Given the description of an element on the screen output the (x, y) to click on. 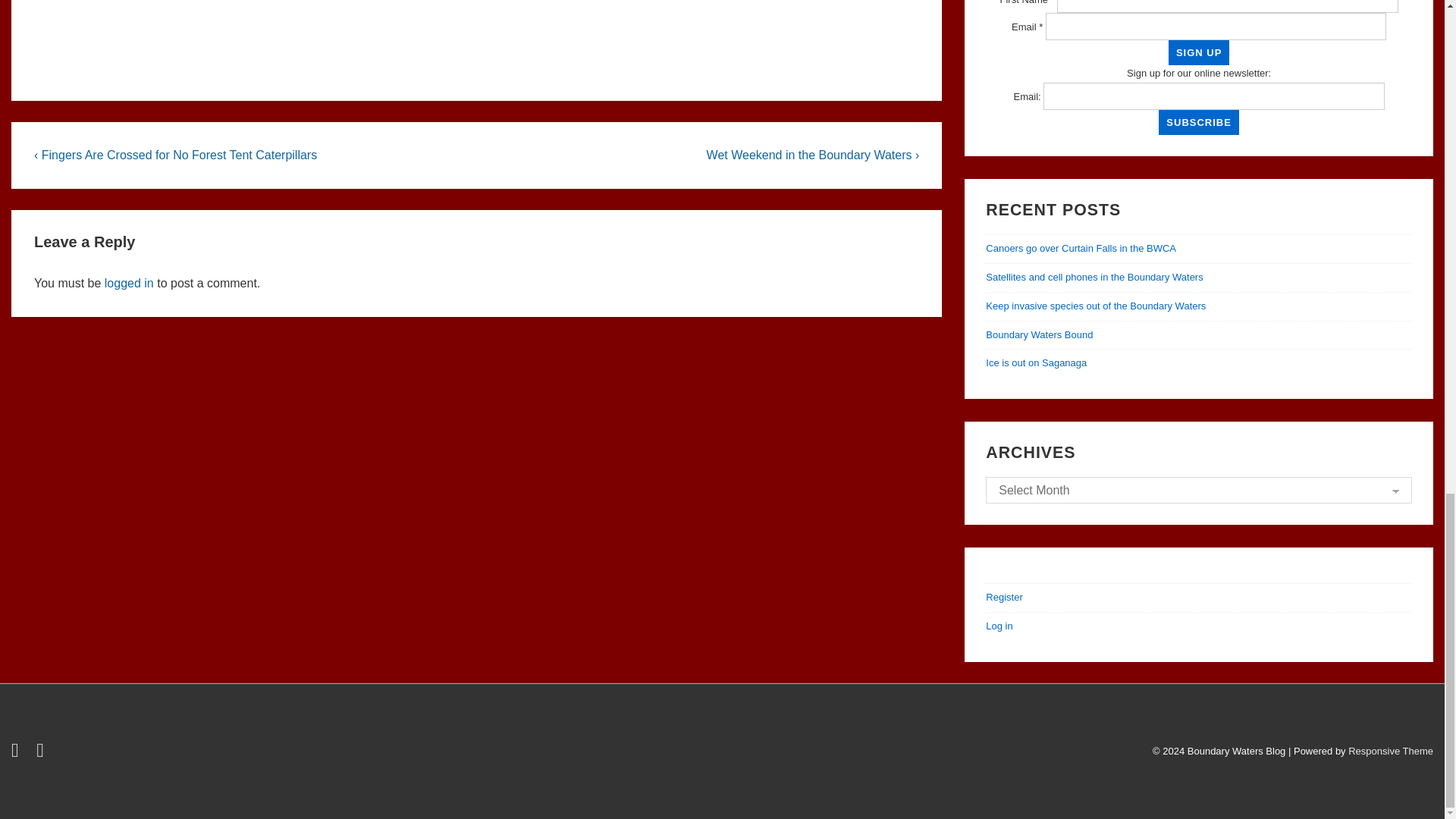
facebook (42, 753)
Sign Up (1198, 52)
Subscribe (1198, 122)
logged in (129, 282)
twitter (17, 753)
